Given the description of an element on the screen output the (x, y) to click on. 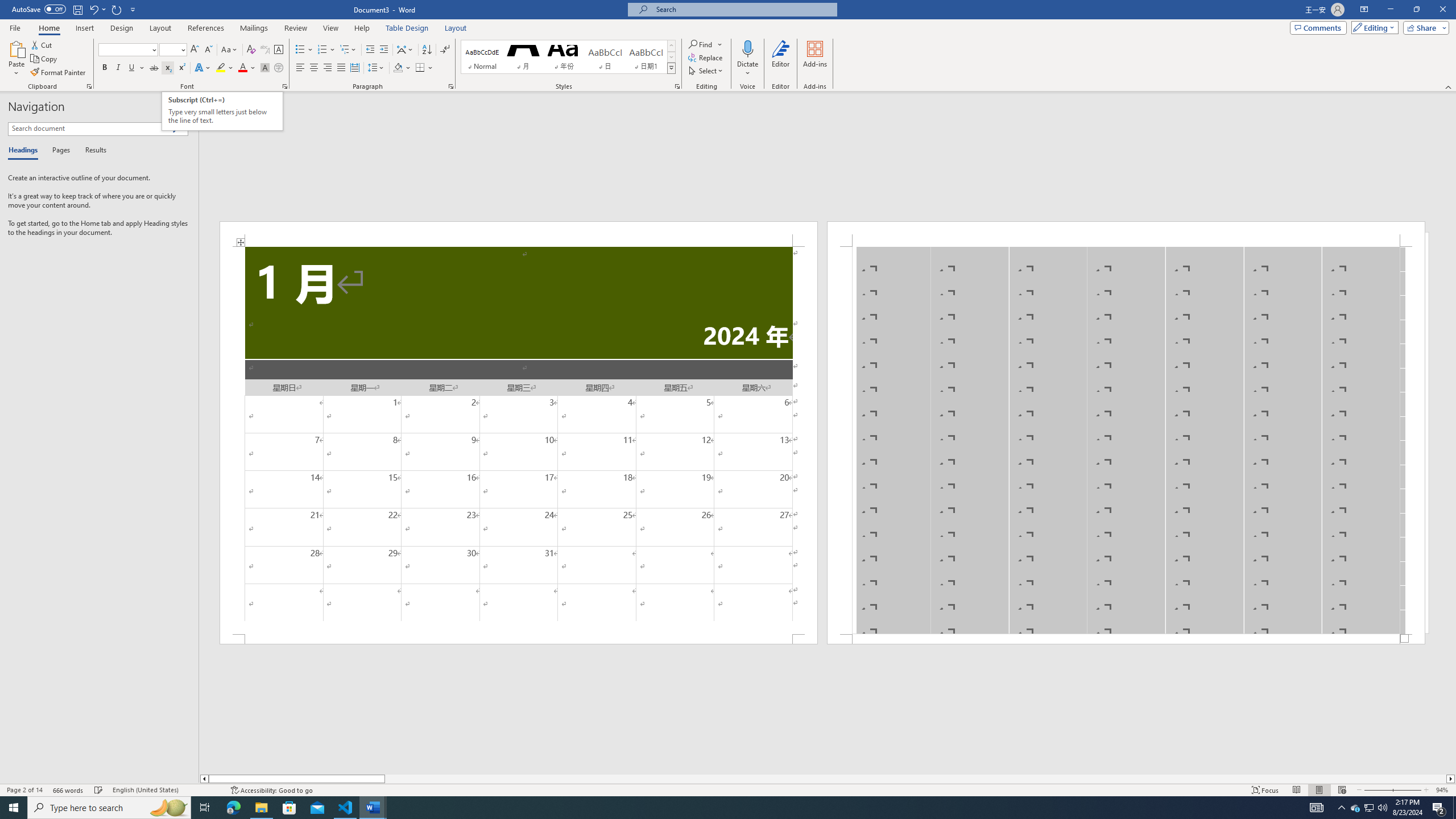
Office Clipboard... (88, 85)
Language English (United States) (165, 790)
Table Design (407, 28)
Header -Section 1- (1126, 233)
Row up (670, 45)
Bold (104, 67)
Character Border (278, 49)
